Given the description of an element on the screen output the (x, y) to click on. 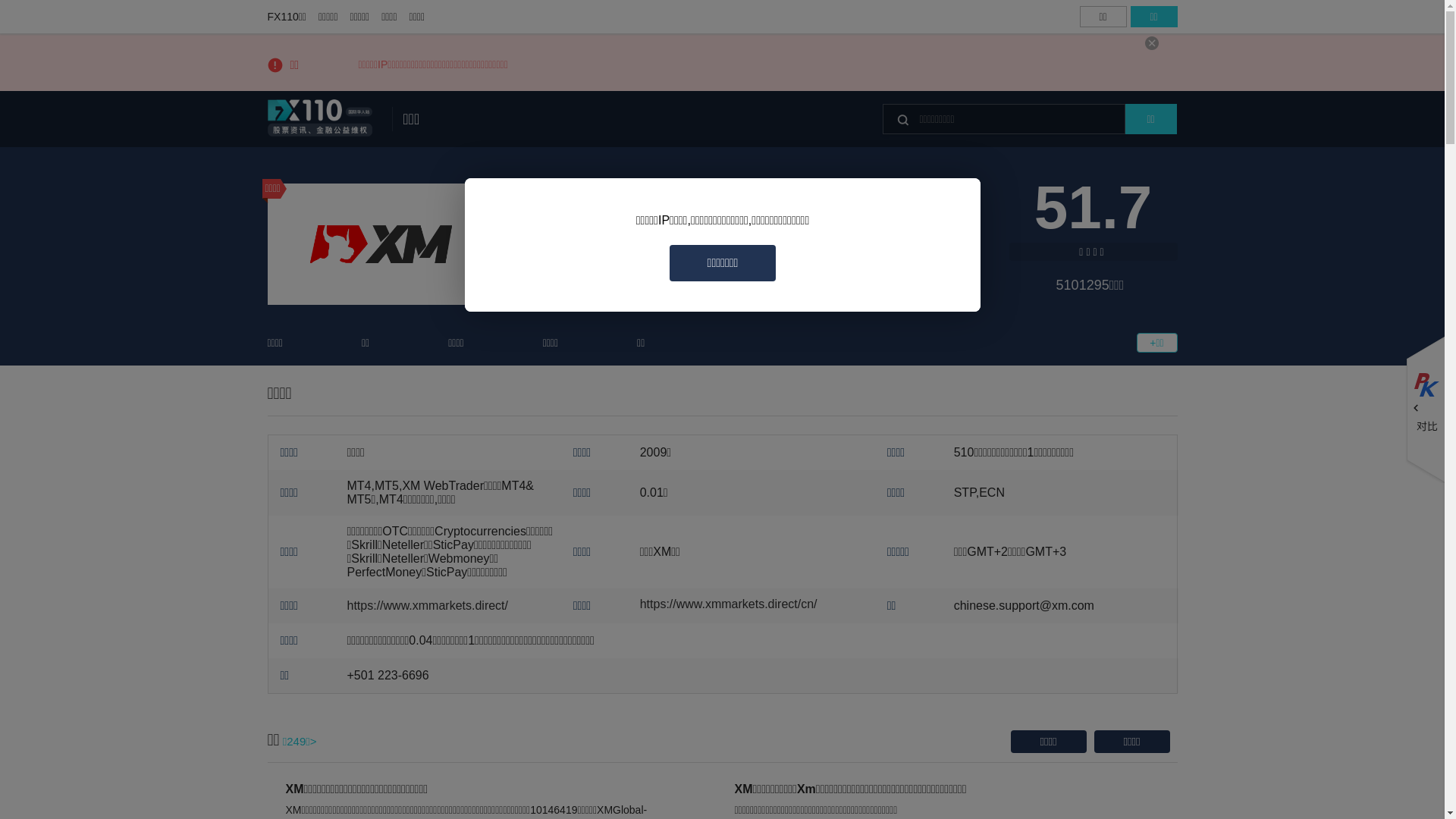
https://www.xmmarkets.direct/ Element type: text (427, 605)
https://www.xmmarkets.direct/cn/ Element type: text (728, 603)
XM Element type: hover (380, 243)
